Given the description of an element on the screen output the (x, y) to click on. 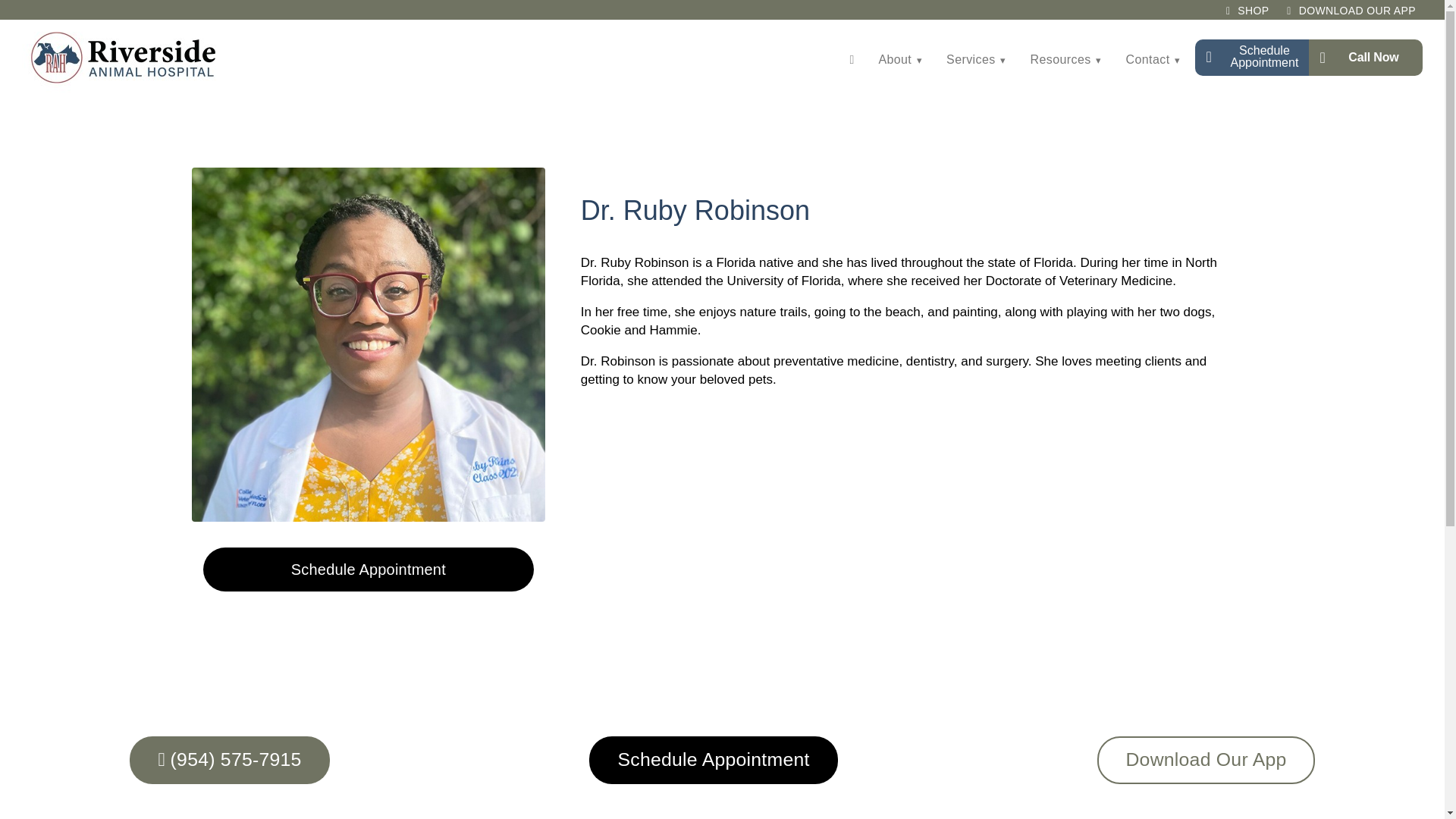
Resources (1065, 60)
Call Now (1365, 57)
SHOP (1246, 10)
DOWNLOAD OUR APP (1351, 10)
About (900, 60)
Services (975, 60)
Contact (1152, 60)
Schedule Appointment (1251, 57)
